Given the description of an element on the screen output the (x, y) to click on. 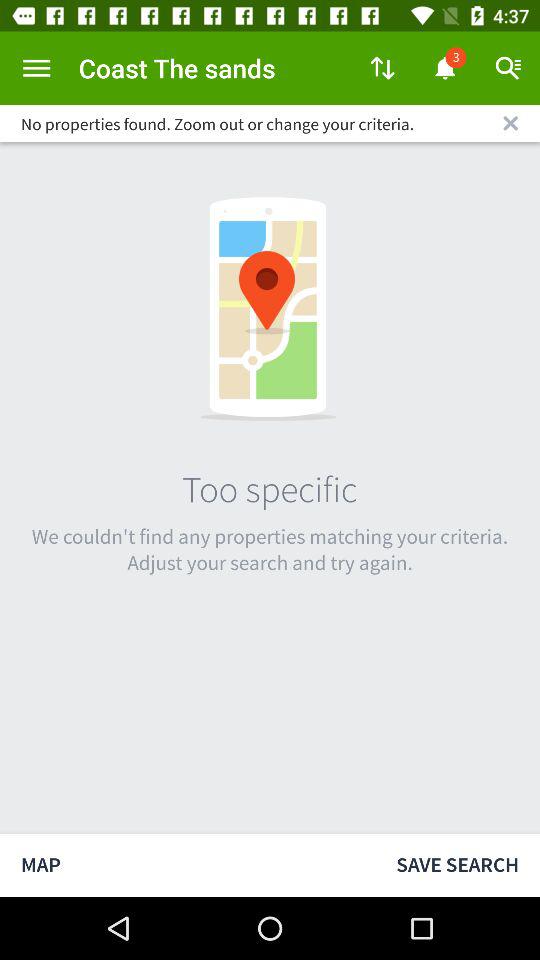
clear search (510, 123)
